Given the description of an element on the screen output the (x, y) to click on. 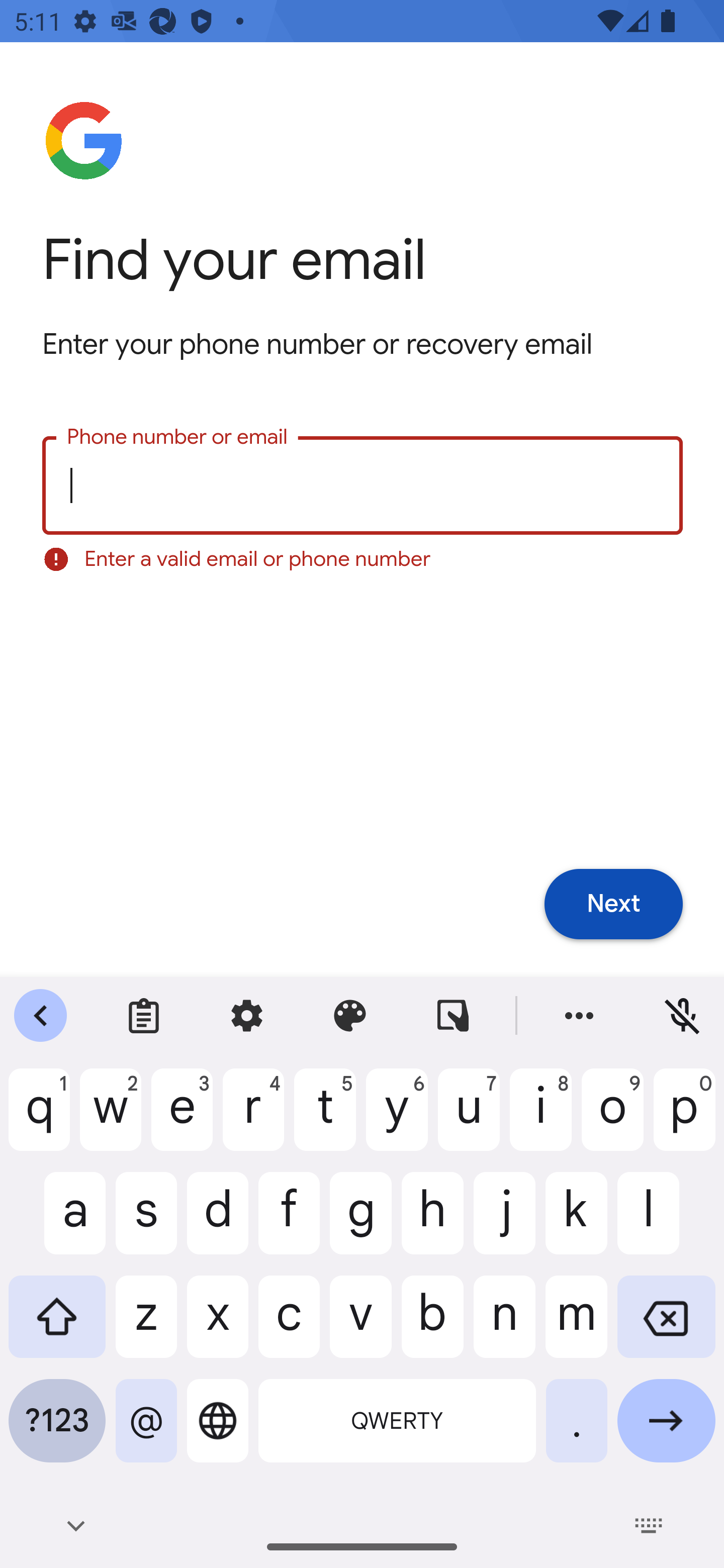
Next (613, 904)
